Given the description of an element on the screen output the (x, y) to click on. 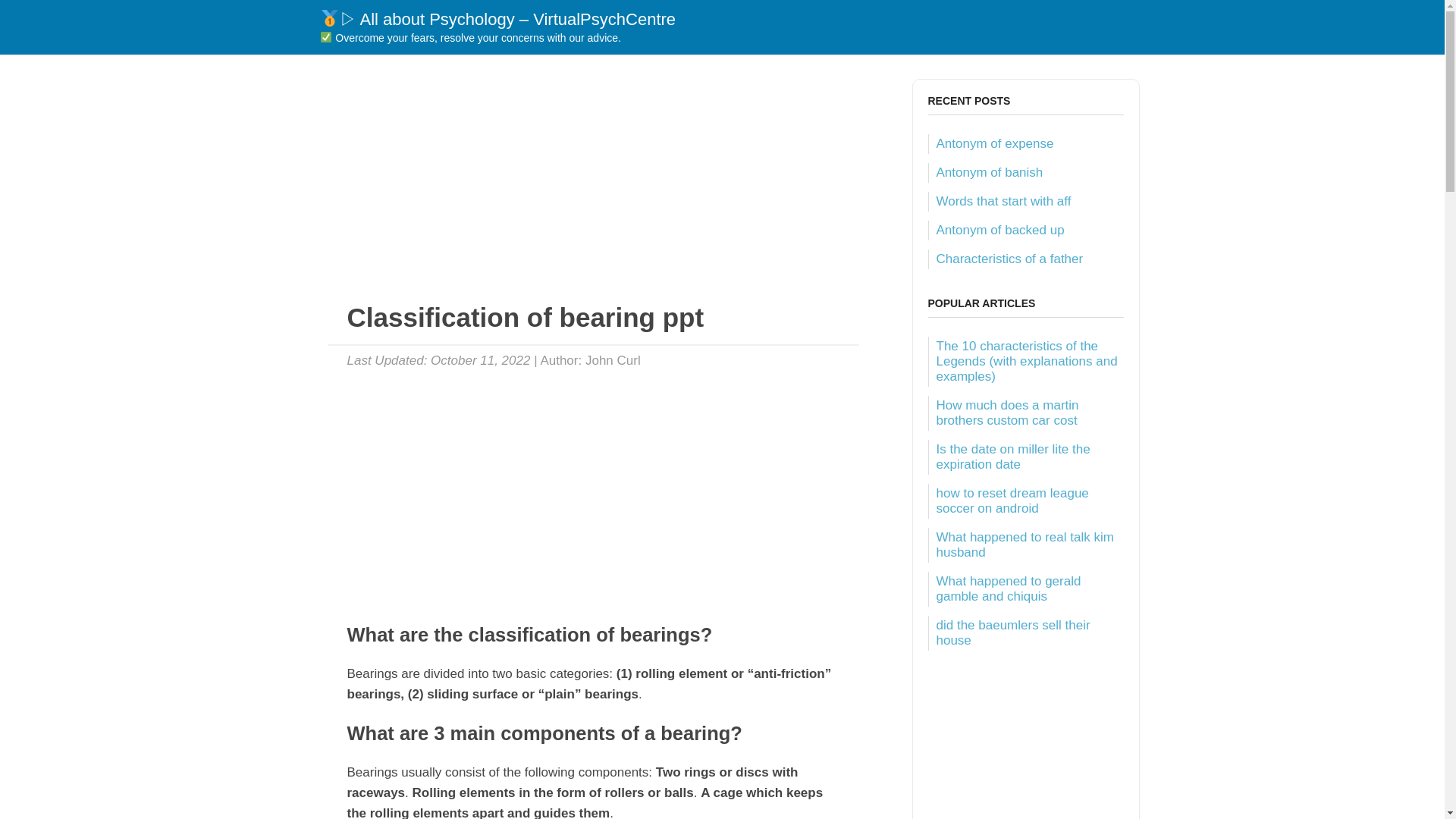
Advertisement (593, 184)
did the baeumlers sell their house (1012, 632)
Antonym of expense (994, 143)
Antonym of backed up (1000, 229)
How much does a martin brothers custom car cost (1007, 412)
Characteristics of a father (1009, 258)
Is the date on miller lite the expiration date (1012, 456)
Advertisement (593, 487)
how to reset dream league soccer on android (1011, 500)
Antonym of banish (989, 172)
Words that start with aff (1003, 201)
John Curl (612, 359)
What happened to real talk kim husband (1024, 544)
What happened to gerald gamble and chiquis (1008, 588)
